Given the description of an element on the screen output the (x, y) to click on. 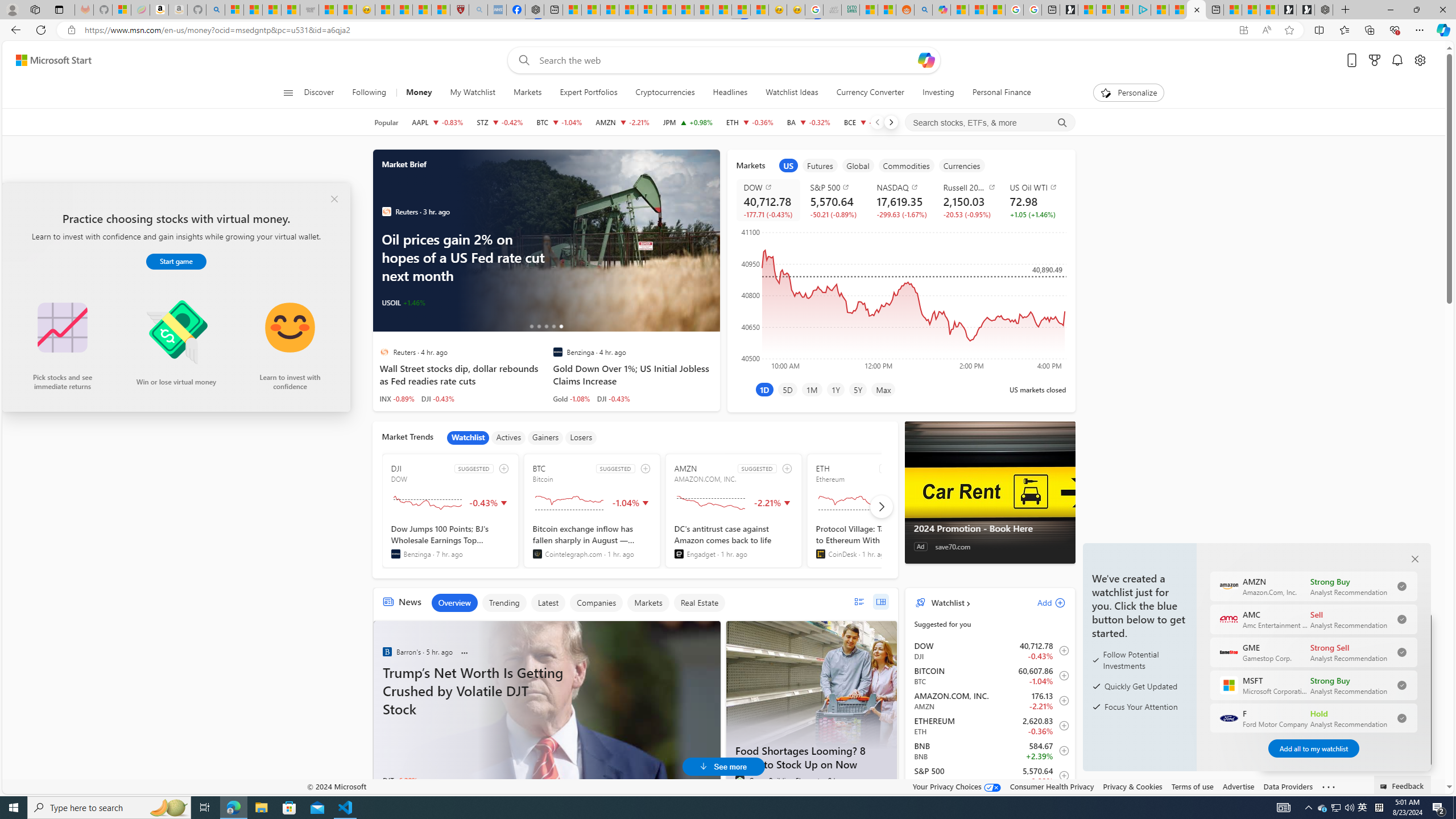
Web search (520, 60)
Close (1442, 9)
Watchlist (946, 602)
Latest (546, 602)
MSN (740, 9)
Investing (937, 92)
Money (419, 92)
Address and search bar (658, 29)
list layout (858, 601)
BA THE BOEING COMPANY decrease 172.87 -0.56 -0.32% (808, 122)
Terms of use (1192, 786)
Following (368, 92)
